Given the description of an element on the screen output the (x, y) to click on. 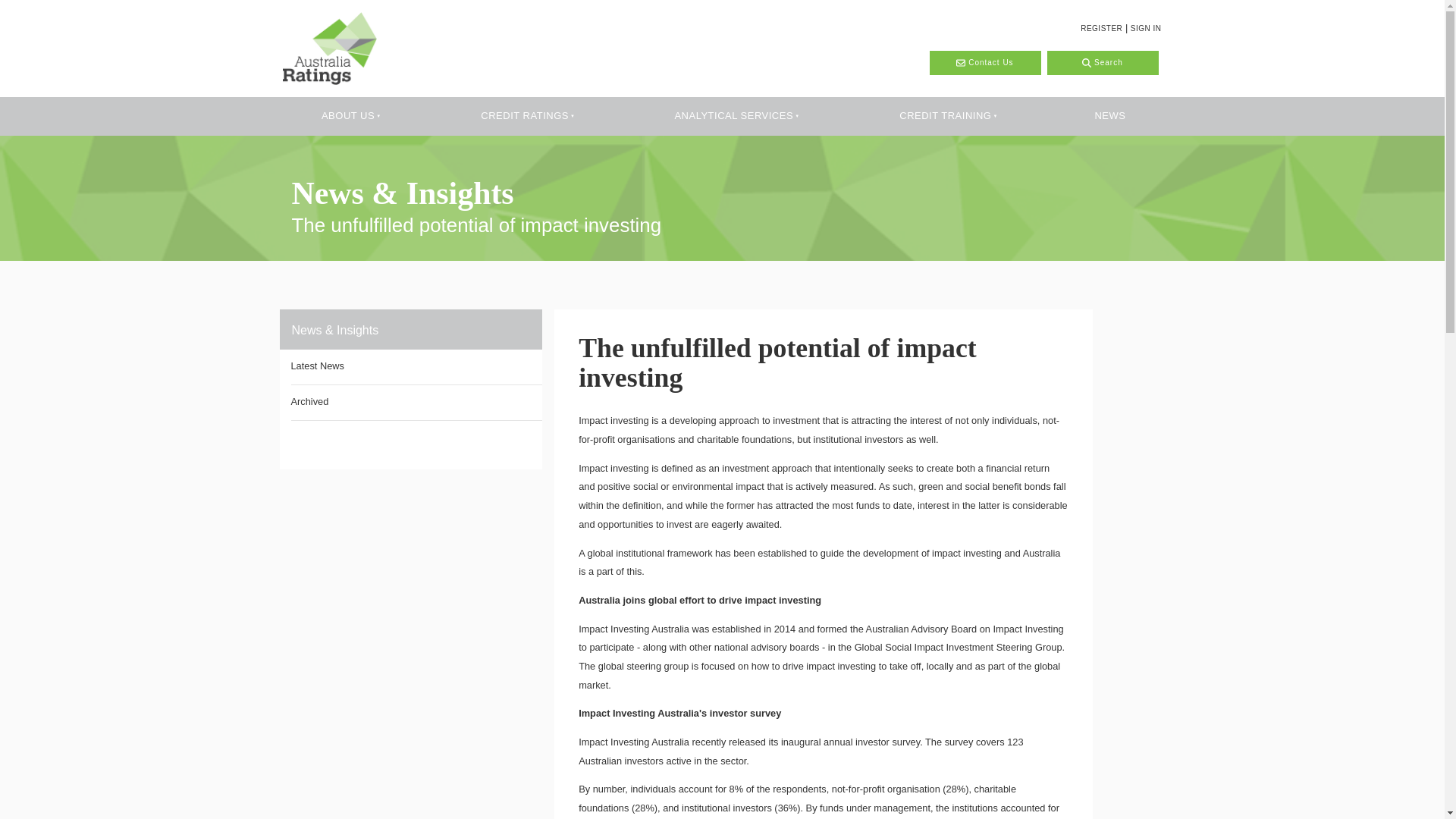
SEARCH (1101, 61)
ANALYTICAL SERVICES (732, 116)
Archived (417, 402)
NEWS (1109, 116)
CONTACT US (984, 61)
SIGN IN (1146, 28)
CREDIT TRAINING (943, 116)
Latest News (417, 366)
REGISTER (1101, 28)
ABOUT US (346, 116)
CREDIT RATINGS (523, 116)
